Given the description of an element on the screen output the (x, y) to click on. 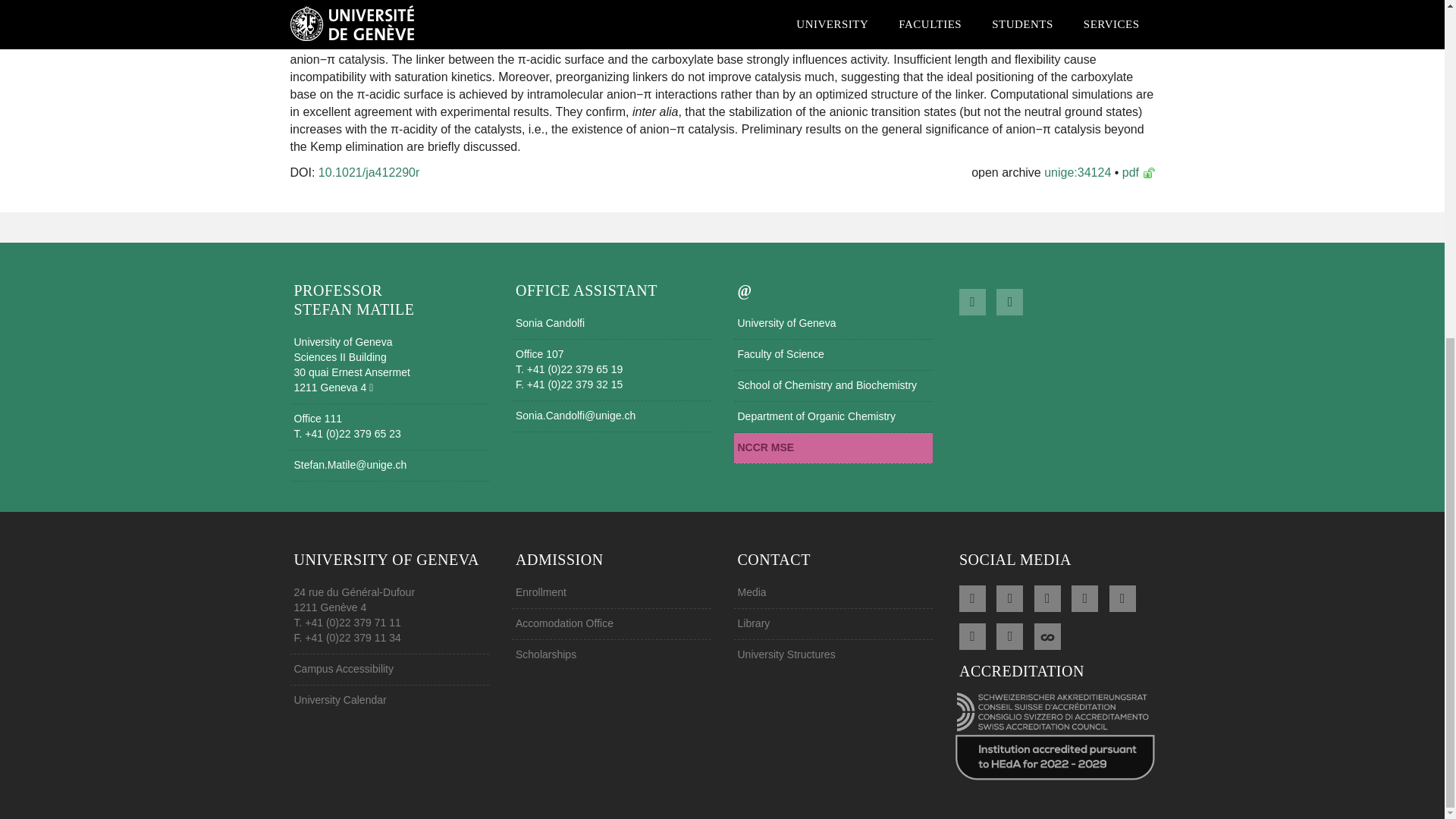
Instagram (972, 634)
Facebook (1009, 596)
iTunesU (1009, 634)
free access (1147, 173)
Coursera (1047, 634)
LinkedIn (972, 300)
LinkedIn (1084, 596)
Twitter (1047, 596)
YouTube (1122, 596)
RSS (972, 596)
